Given the description of an element on the screen output the (x, y) to click on. 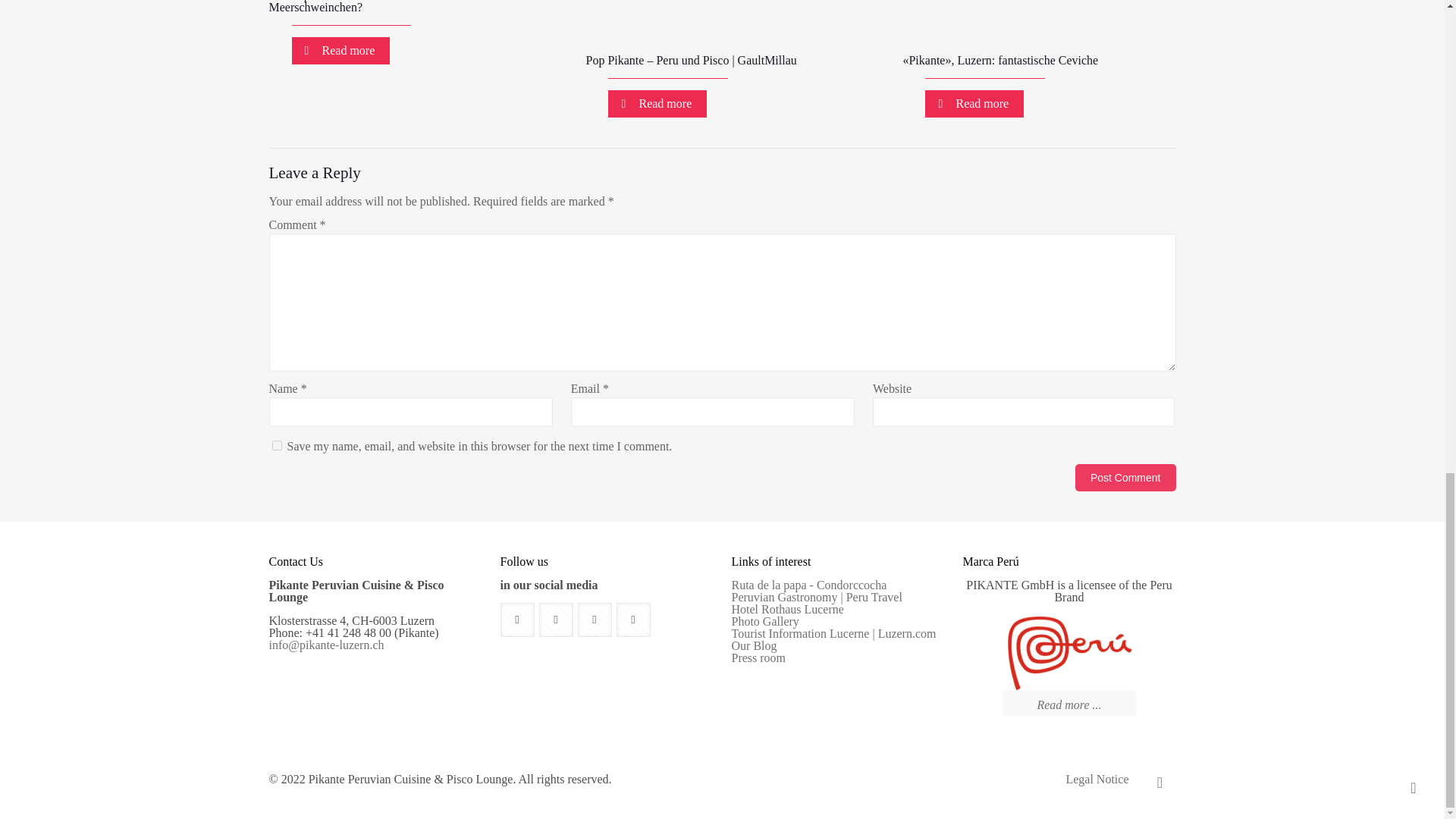
yes (275, 445)
Post Comment (1125, 477)
Read more (340, 50)
Read more (657, 103)
Read more (973, 103)
